Given the description of an element on the screen output the (x, y) to click on. 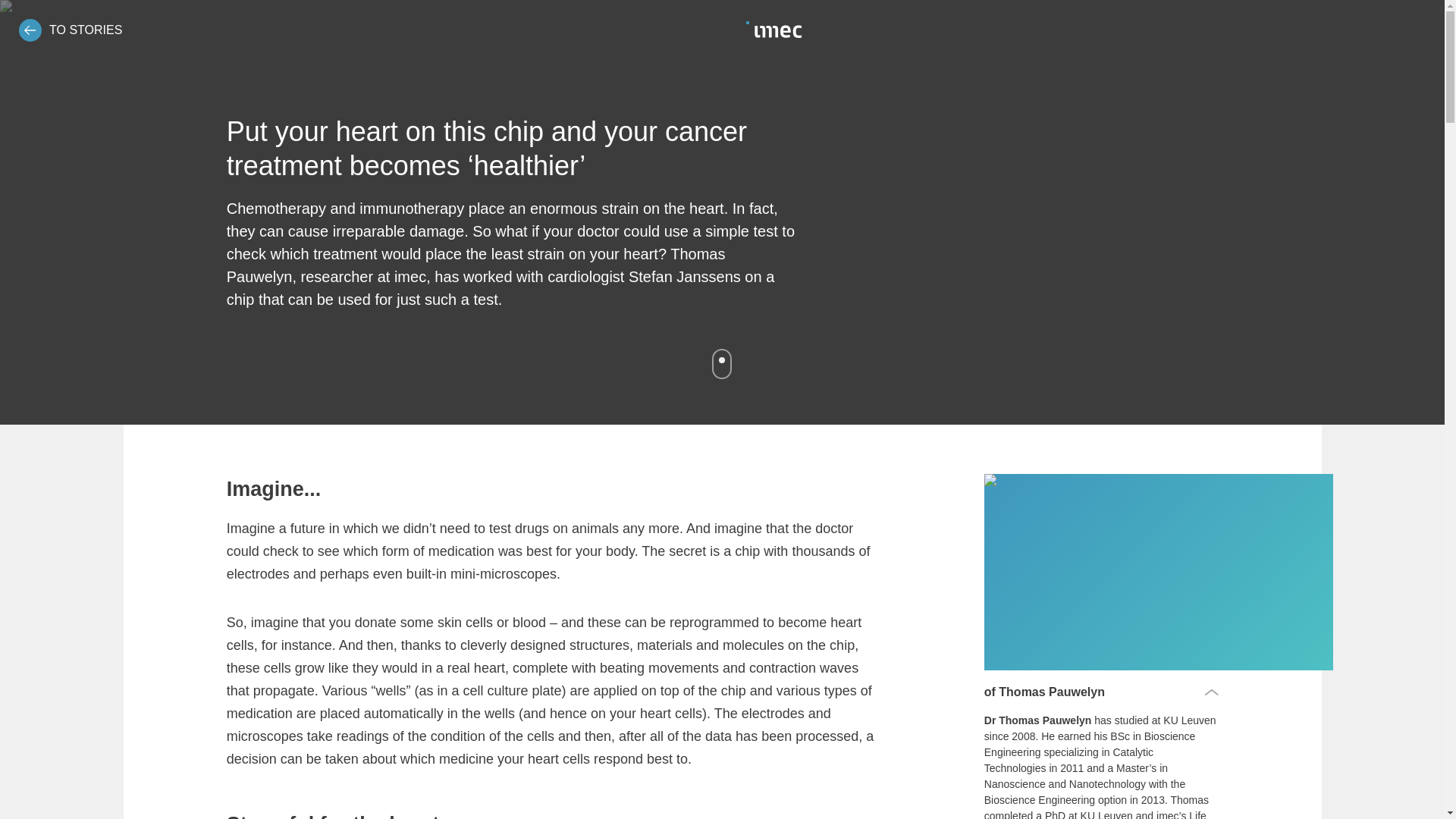
TO STORIES (70, 29)
